Given the description of an element on the screen output the (x, y) to click on. 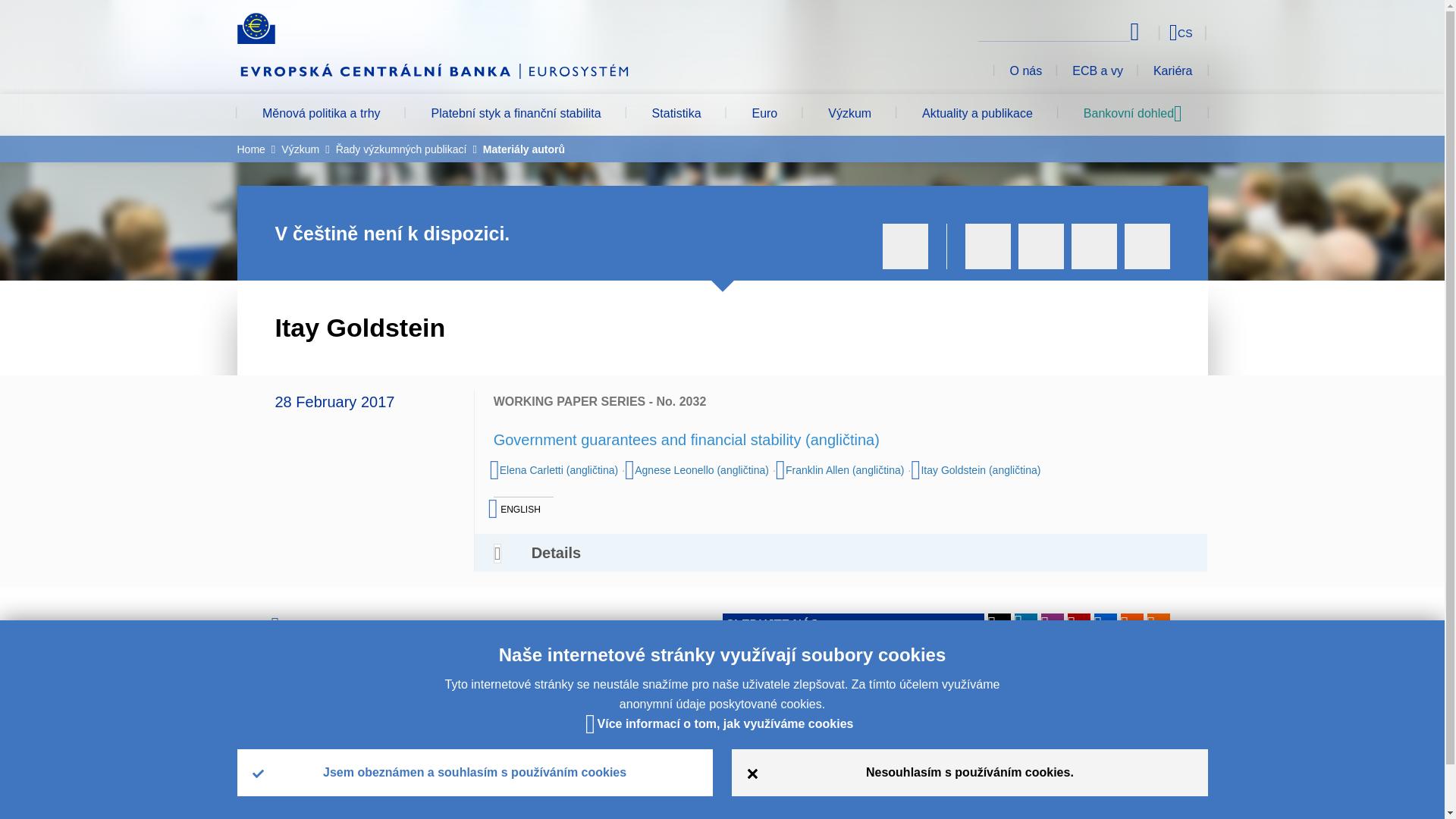
Select language (1153, 32)
